Given the description of an element on the screen output the (x, y) to click on. 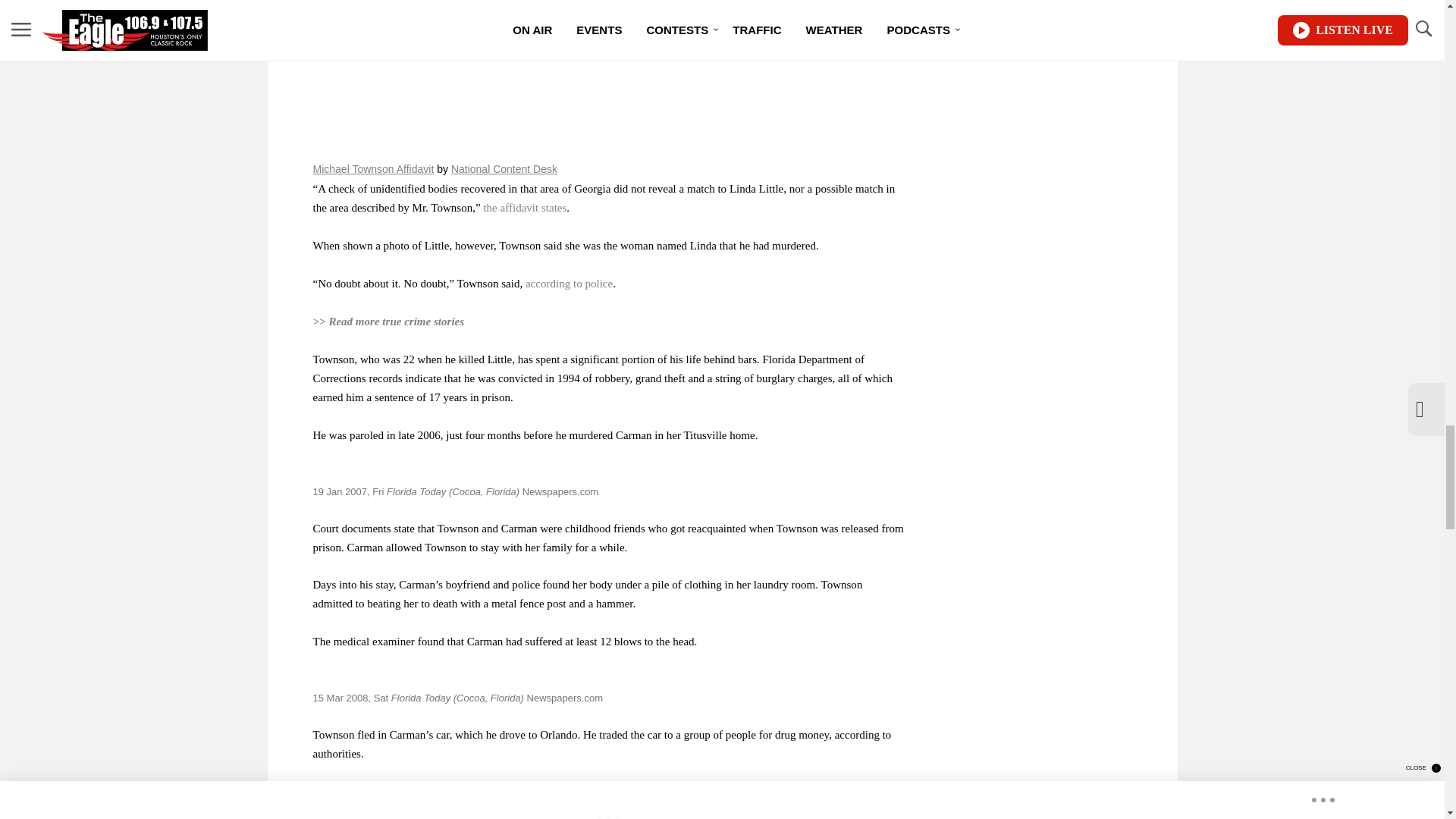
View Michael Townson Affidavit on Scribd (373, 168)
View National Content Desk's profile on Scribd (504, 168)
Michael Townson Affidavit (608, 72)
